Given the description of an element on the screen output the (x, y) to click on. 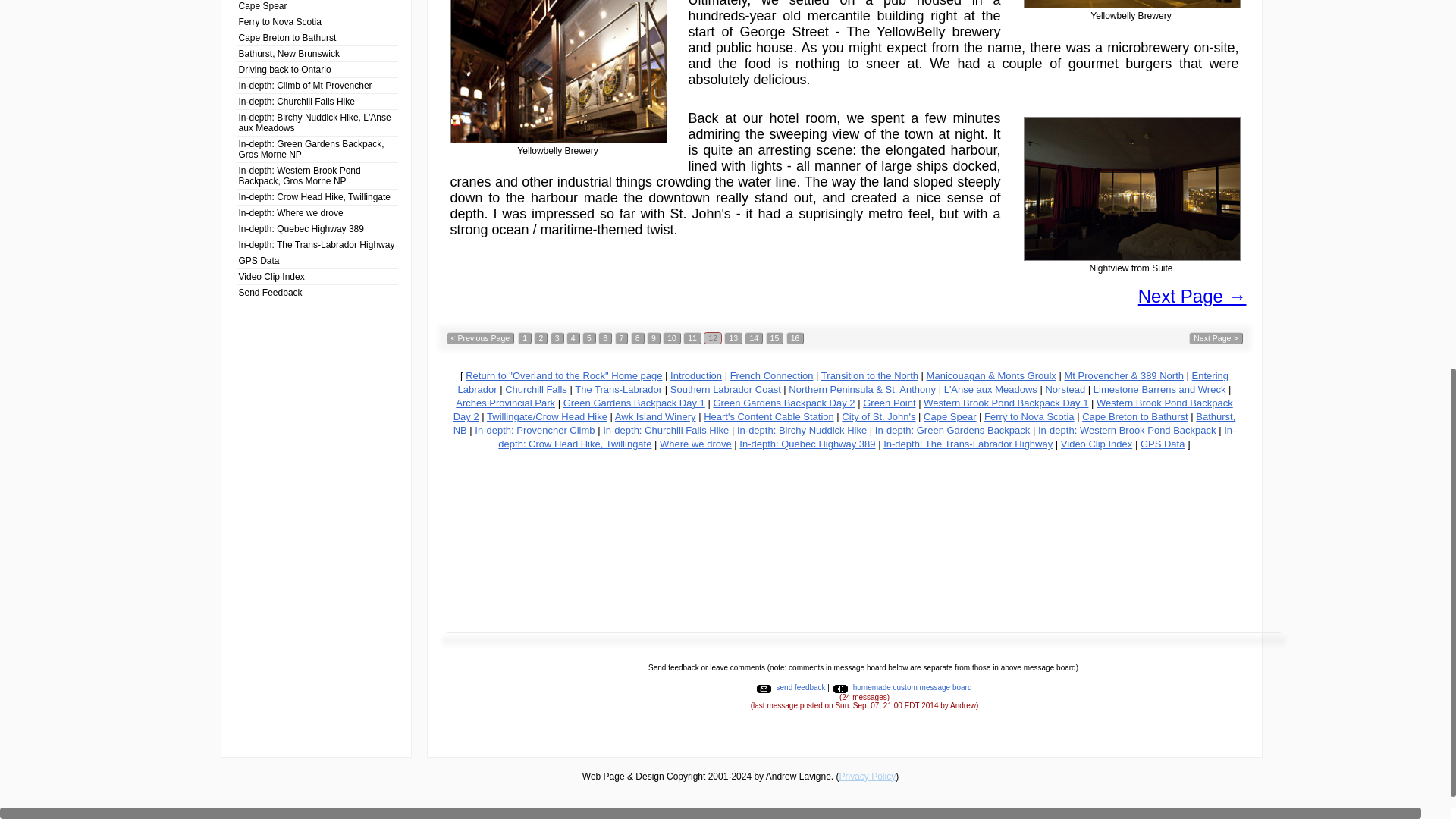
Click to expand image (1131, 4)
In-depth: Climb of Mt Provencher (316, 84)
In-depth: Birchy Nuddick Hike, L'Anse aux Meadows (316, 121)
Cape Spear (316, 6)
In-depth: Western Brook Pond Backpack, Gros Morne NP (316, 175)
Bathurst, New Brunswick (316, 53)
Driving back to Ontario (316, 68)
Cape Breton to Bathurst (316, 37)
In-depth: Churchill Falls Hike (316, 100)
Ferry to Nova Scotia (316, 21)
In-depth: Where we drove (316, 212)
In-depth: Green Gardens Backpack, Gros Morne NP (316, 148)
In-depth: Crow Head Hike, Twillingate (316, 196)
Click to expand image (557, 71)
Click to expand image (1131, 189)
